Given the description of an element on the screen output the (x, y) to click on. 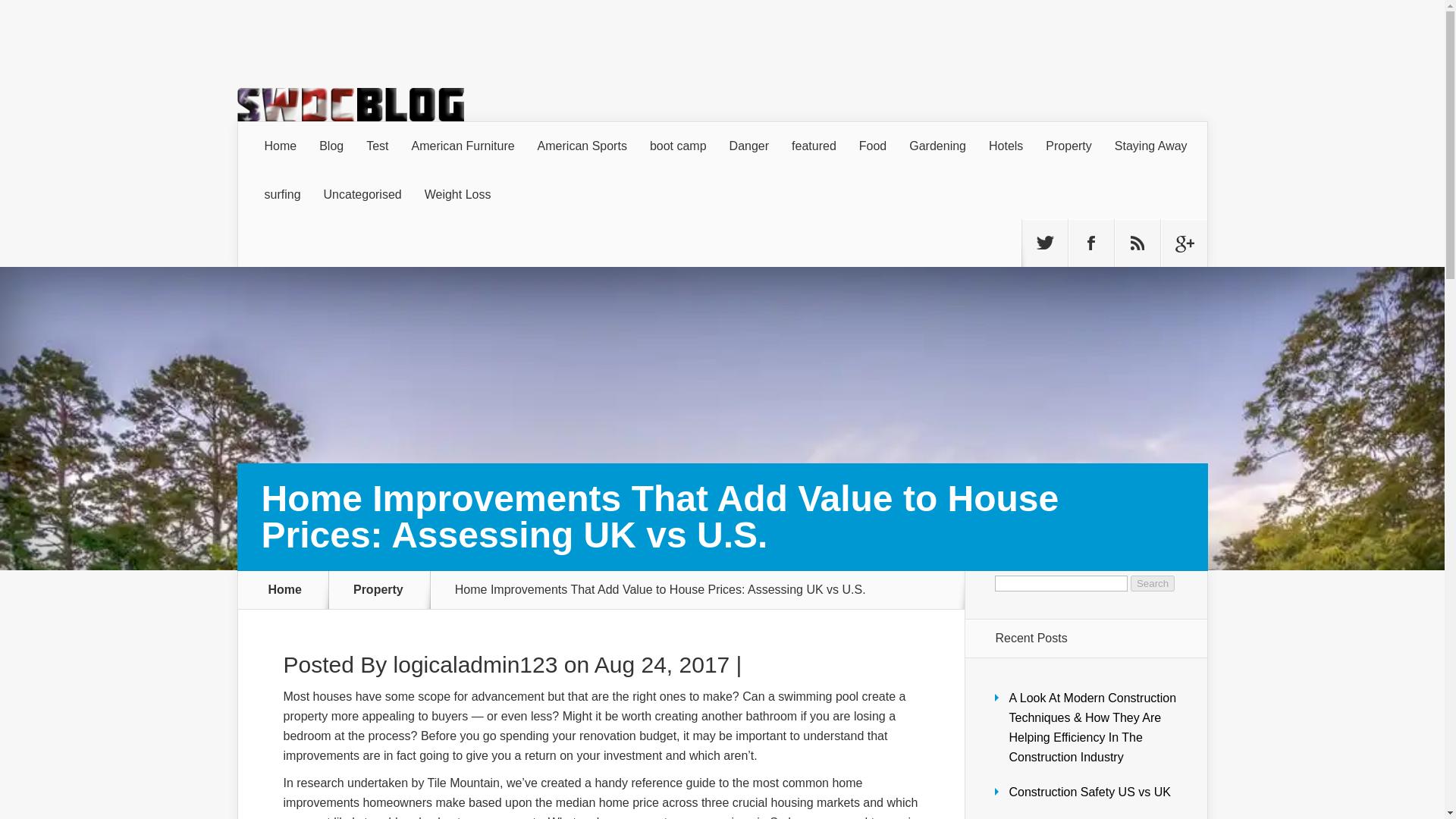
Subscribe To Rss Feed (1137, 243)
Staying Away (1150, 146)
American Sports (582, 146)
Test (376, 146)
Search (1152, 583)
boot camp (678, 146)
Blog (331, 146)
surfing (283, 194)
Food (872, 146)
Weight Loss (457, 194)
Uncategorised (363, 194)
Home (280, 146)
Posts by logicaladmin123 (475, 664)
Gardening (937, 146)
American Furniture (462, 146)
